Given the description of an element on the screen output the (x, y) to click on. 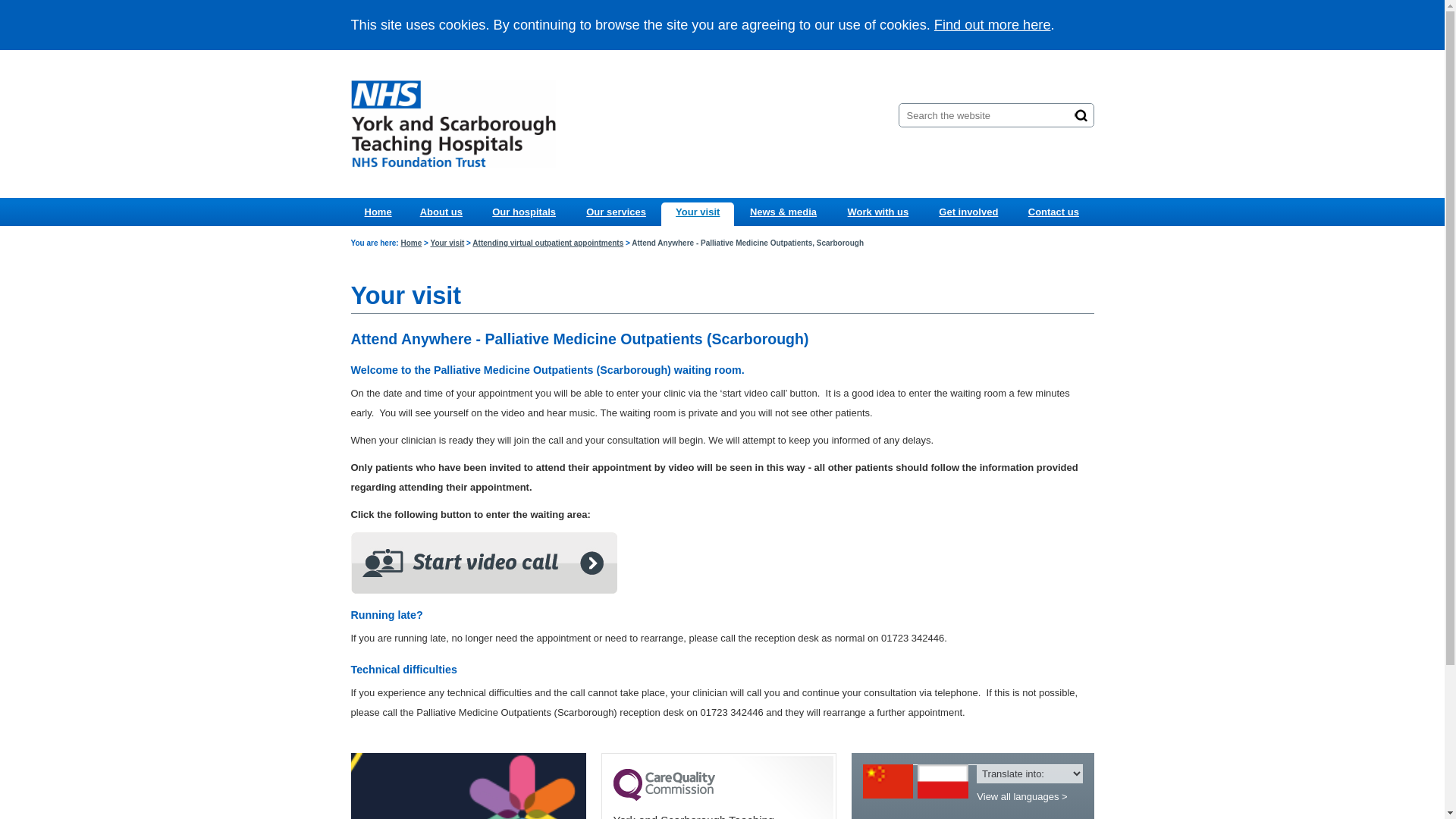
Contact us (1053, 212)
Search (1080, 115)
Work with us (877, 212)
Search (1080, 115)
Find out more here (992, 24)
Your visit (446, 243)
Attending virtual outpatient appointments (547, 243)
CQC Logo (663, 797)
Get involved (968, 212)
Our services (615, 212)
